Given the description of an element on the screen output the (x, y) to click on. 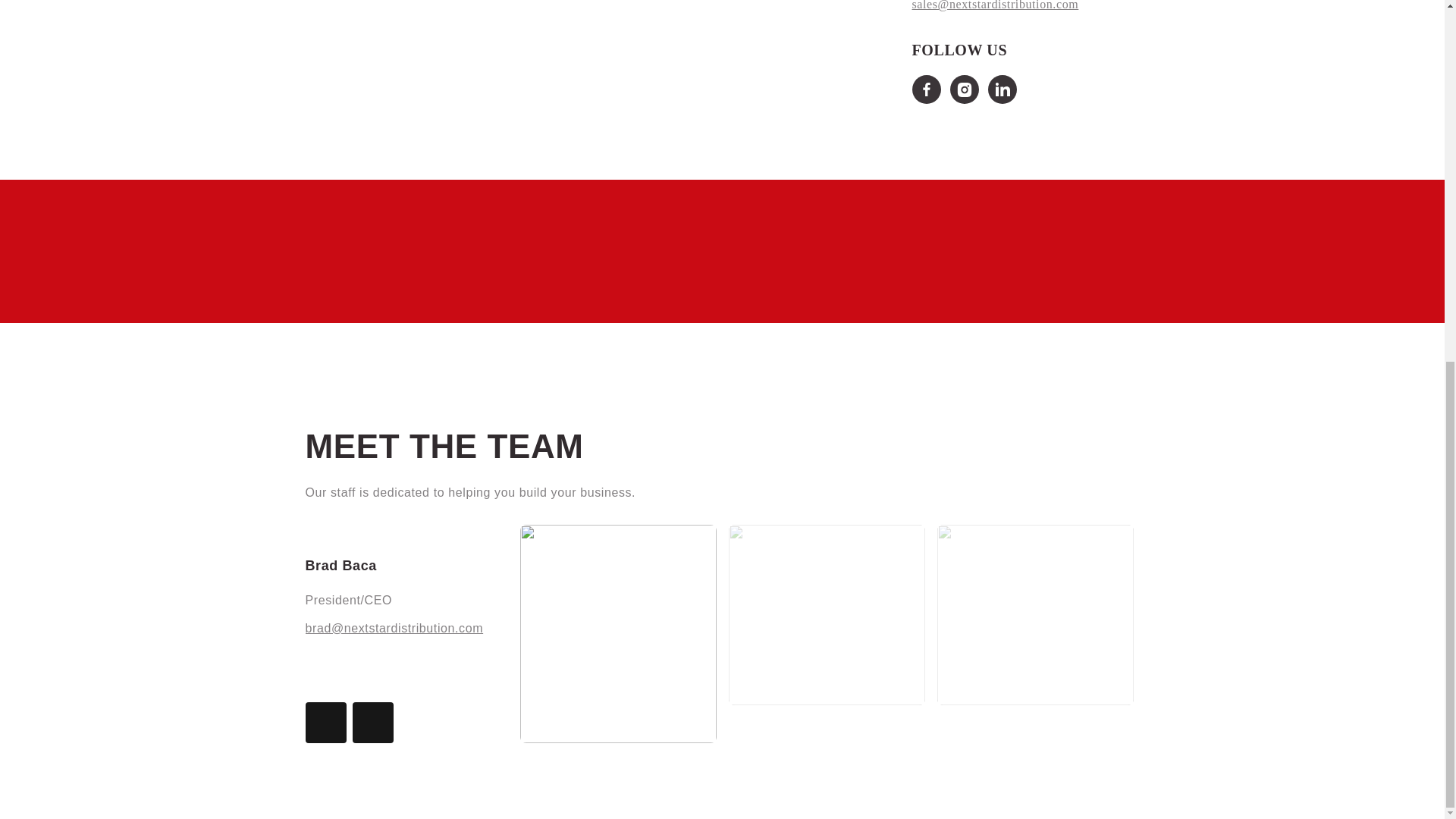
Previous (325, 721)
